Given the description of an element on the screen output the (x, y) to click on. 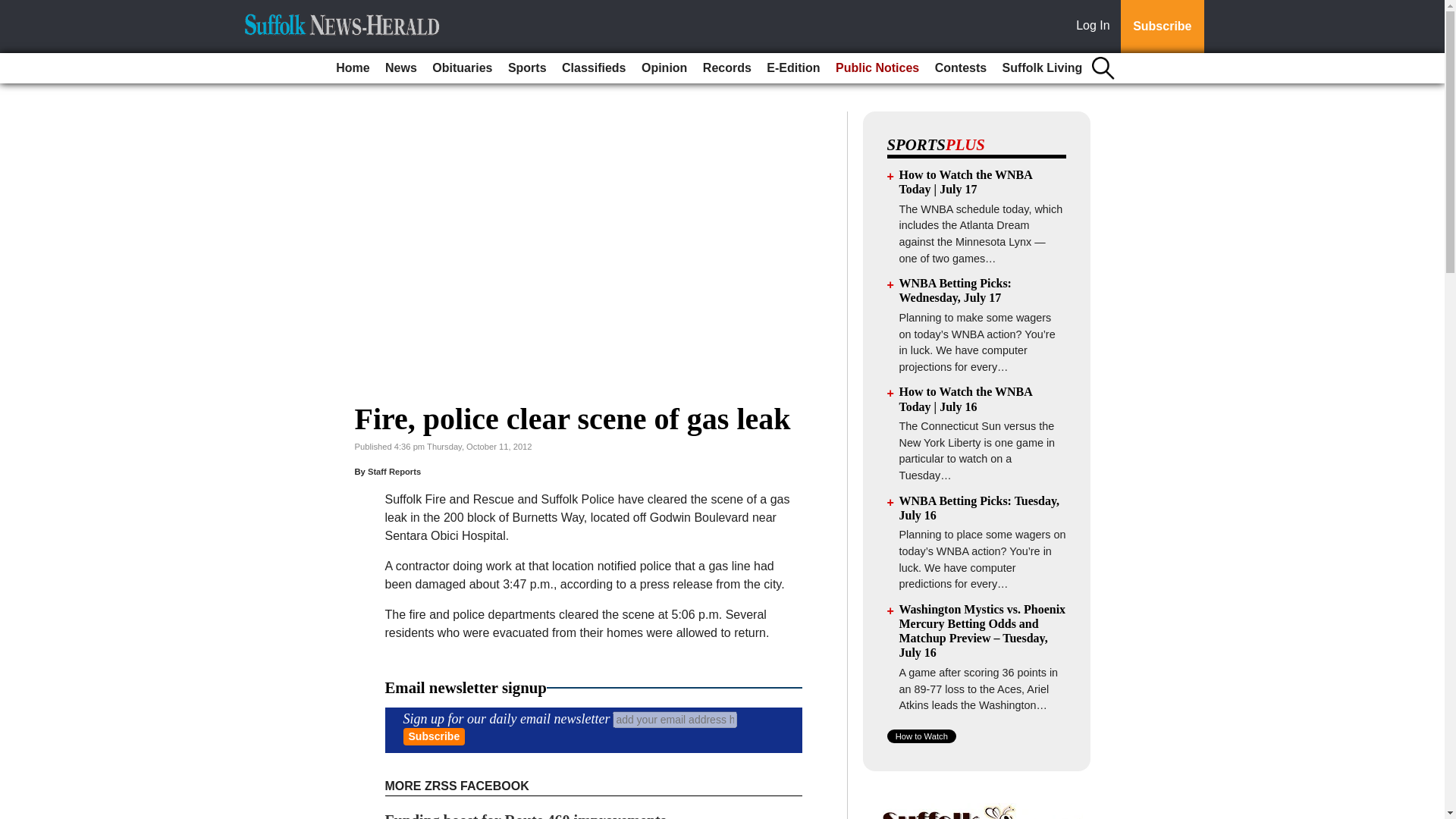
Public Notices (876, 68)
Staff Reports (394, 470)
Sports (527, 68)
Go (13, 9)
E-Edition (792, 68)
Suffolk Living (1042, 68)
Subscribe (1162, 26)
Obituaries (461, 68)
News (400, 68)
Contests (960, 68)
Classifieds (593, 68)
Log In (1095, 26)
How to Watch (921, 735)
Opinion (663, 68)
Home (352, 68)
